Given the description of an element on the screen output the (x, y) to click on. 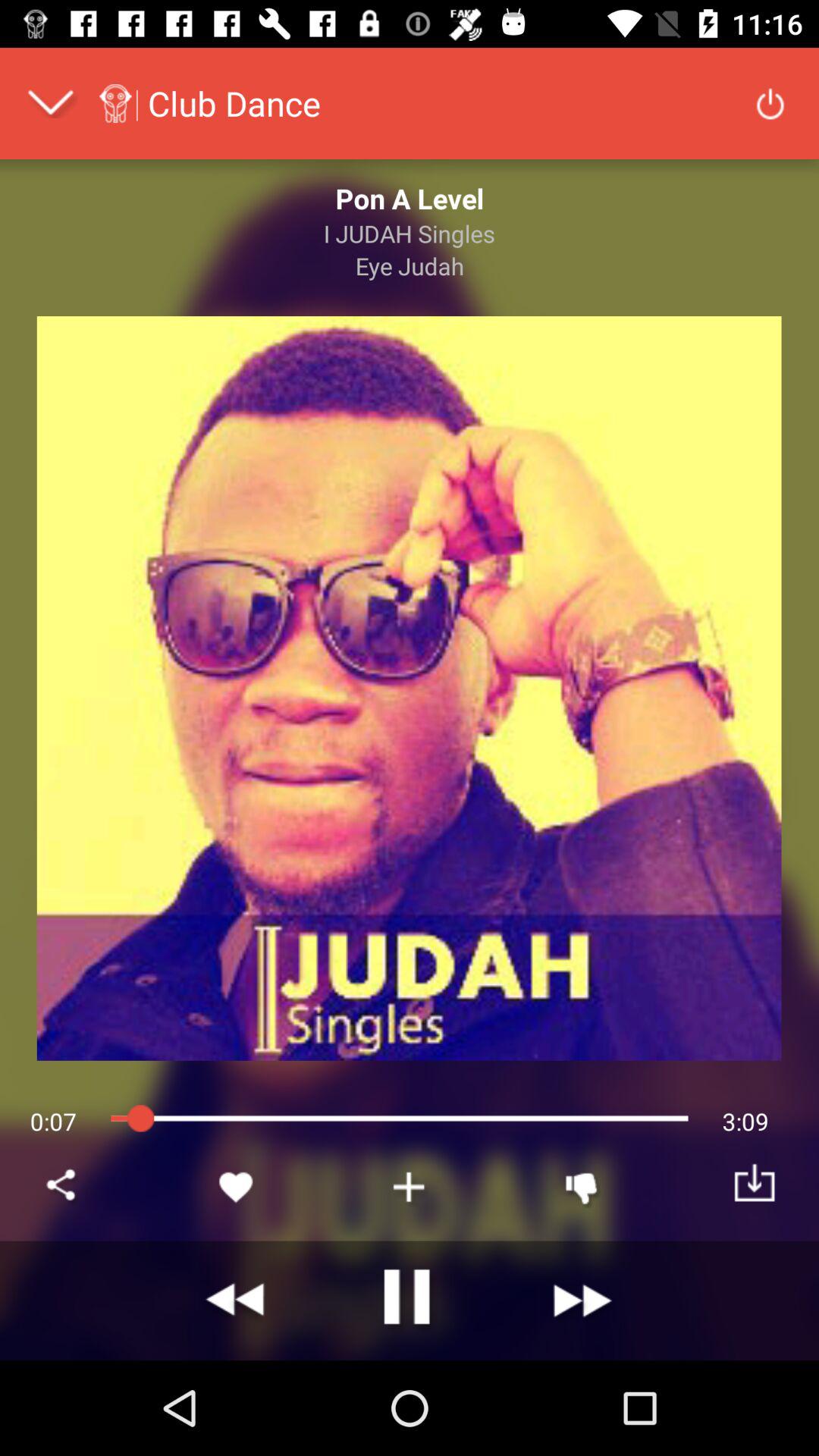
press icon below 0:07 icon (63, 1186)
